Given the description of an element on the screen output the (x, y) to click on. 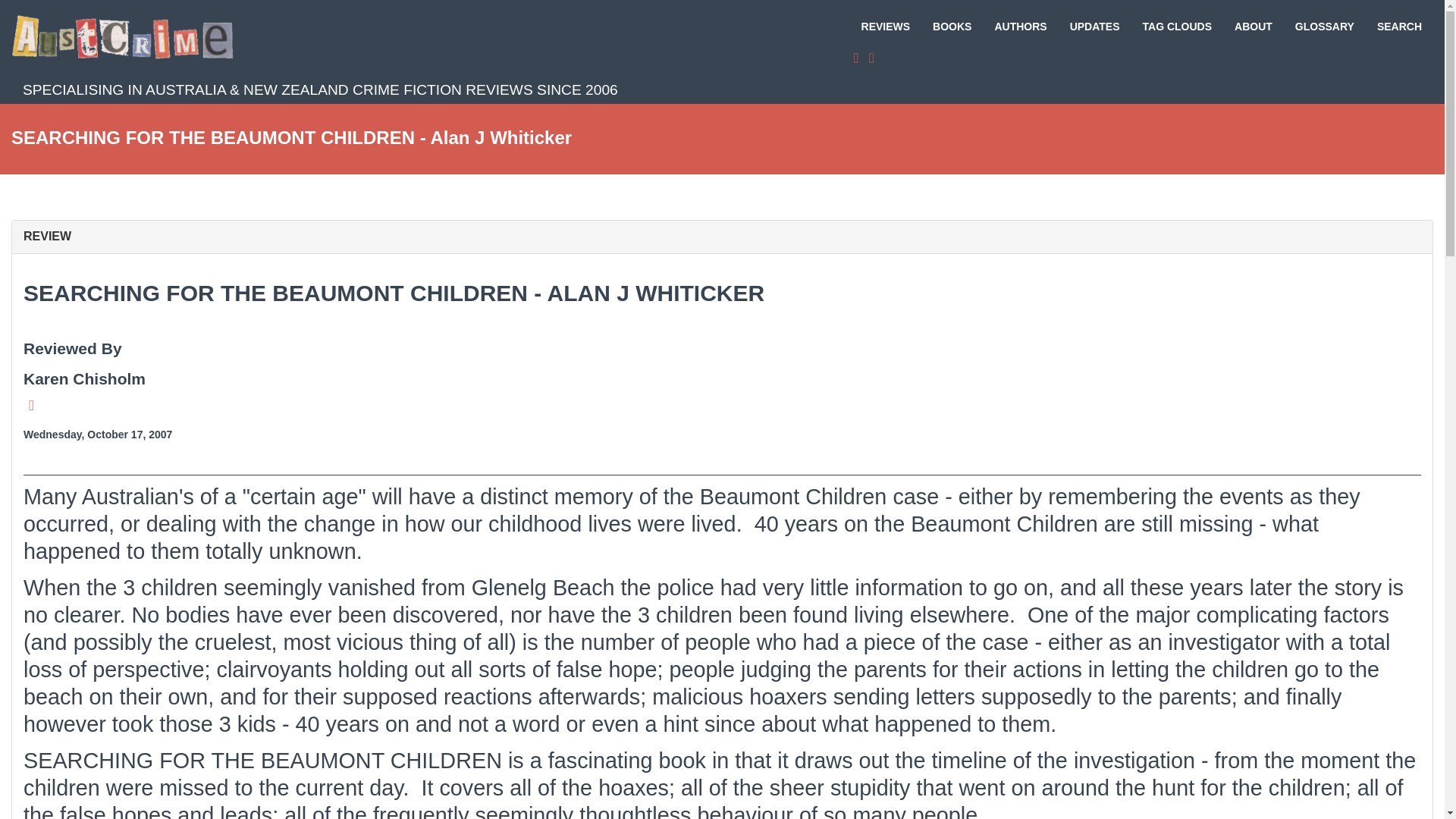
GLOSSARY (1324, 26)
About this Site (1253, 26)
UPDATES (1094, 26)
BOOKS (951, 26)
Tag Clouds (1177, 26)
ABOUT (1253, 26)
REVIEWS (885, 26)
Home (127, 35)
AUTHORS (1020, 26)
TAG CLOUDS (1177, 26)
SEARCH (1398, 26)
